Given the description of an element on the screen output the (x, y) to click on. 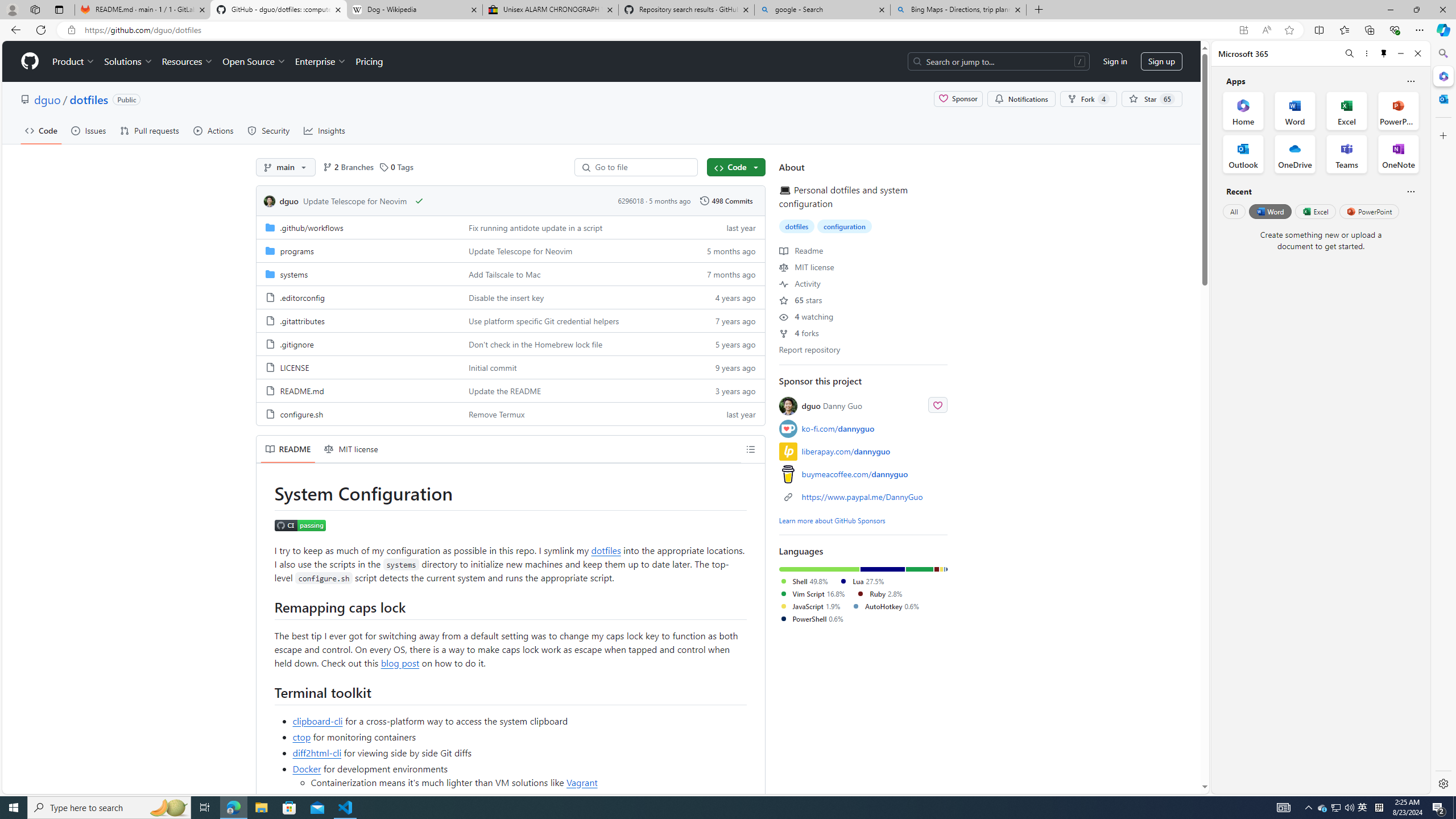
configure.sh, (File) (301, 413)
3 years ago (725, 390)
clipboard-cli (317, 720)
Security (269, 130)
liberapay.com/dannyguo (862, 451)
Open Source (254, 60)
Add Tailscale to Mac (573, 273)
@dguo (790, 405)
Ruby2.8% (883, 594)
Vim Script 16.8% (811, 593)
commits by dguo (288, 200)
programs, (Directory) (358, 250)
 Readme (801, 249)
Pull requests (149, 130)
